Given the description of an element on the screen output the (x, y) to click on. 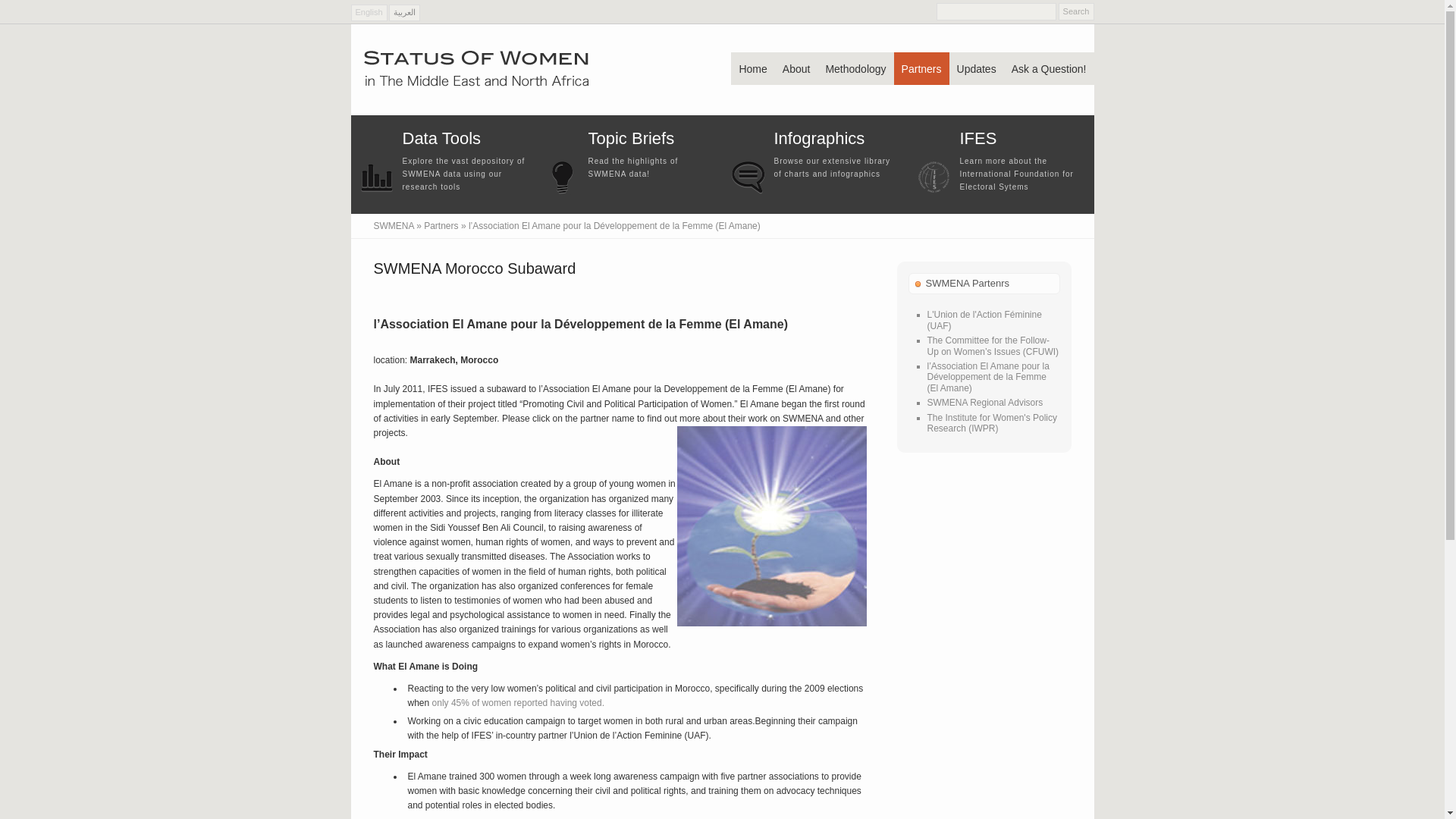
English (368, 12)
Infographics (747, 192)
 Search  (1076, 11)
Home (752, 68)
IFES (933, 192)
Updates (976, 68)
Data Tools (440, 138)
Infographics (818, 138)
IFES (978, 138)
Methodology (854, 68)
Data Tools (376, 192)
Latest Updates (631, 138)
About (796, 68)
 Search  (1076, 11)
Partners (440, 225)
